Given the description of an element on the screen output the (x, y) to click on. 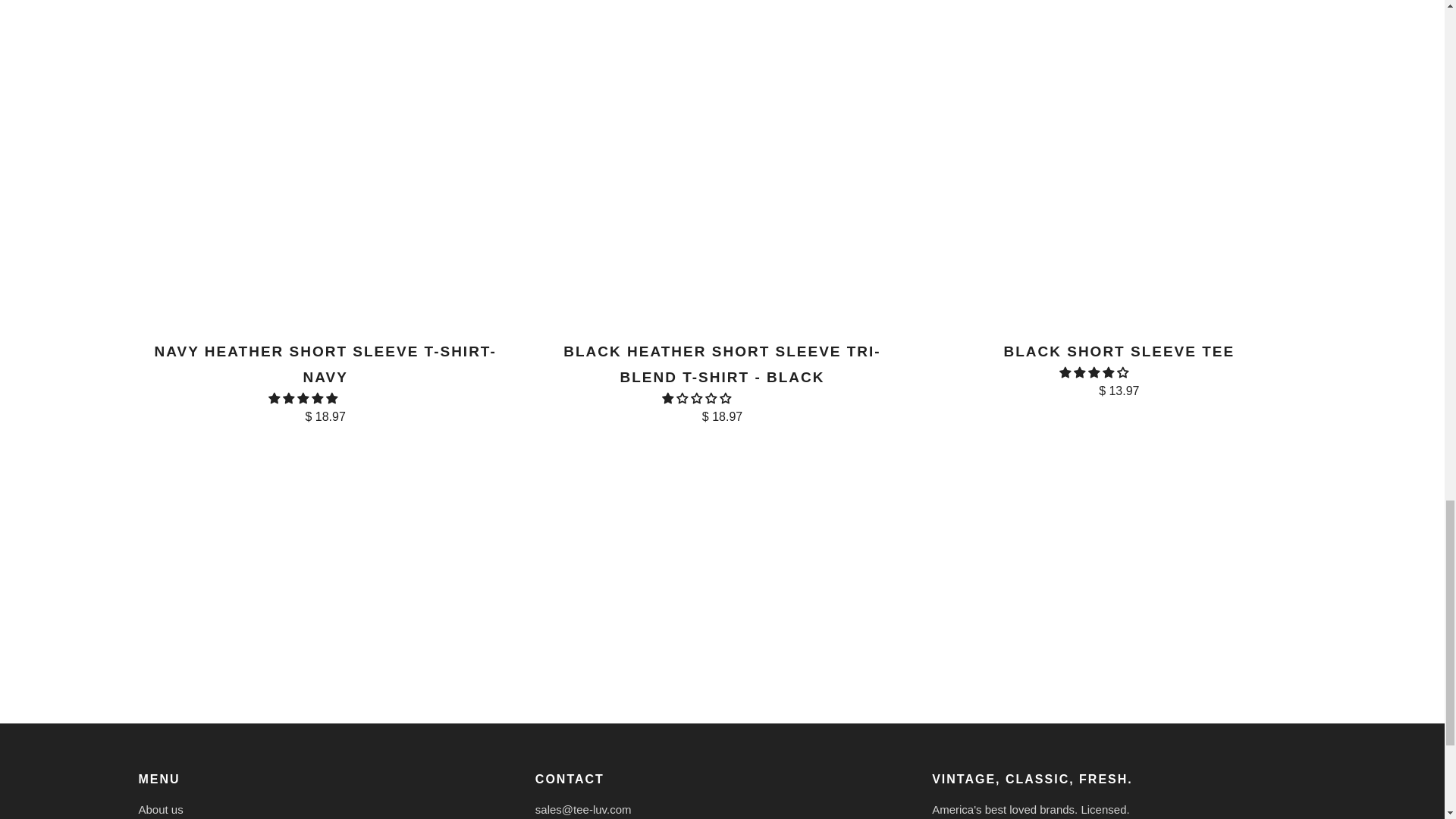
Navy Heather Short Sleeve T-Shirt- Navy (325, 381)
Black Short Sleeve Tee (1118, 368)
Black Heather Short Sleeve Tri-Blend T-Shirt - Black (721, 381)
